Given the description of an element on the screen output the (x, y) to click on. 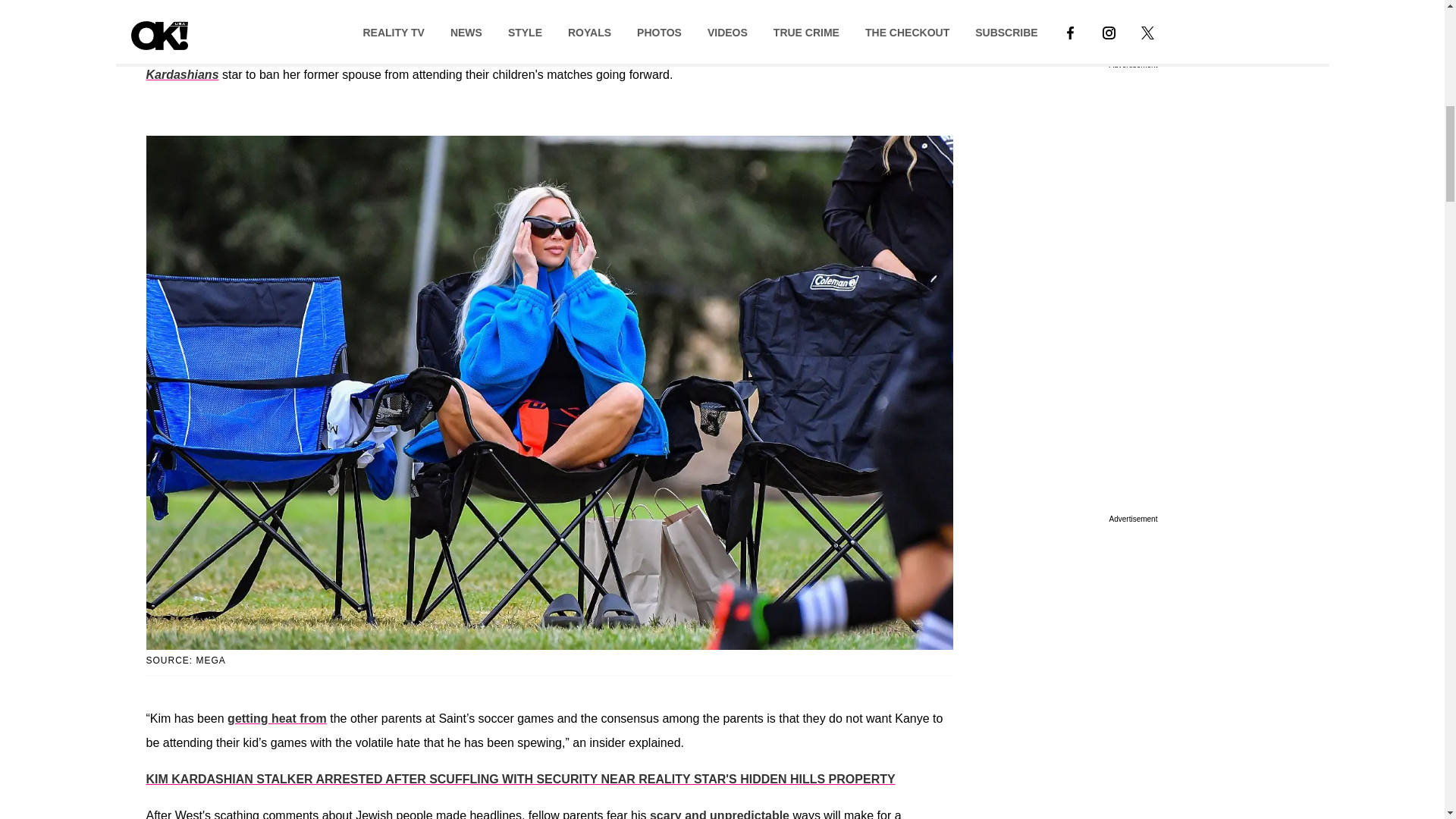
Kanye West (661, 25)
complete meltdown (235, 50)
Kim Kardashian (319, 25)
